Given the description of an element on the screen output the (x, y) to click on. 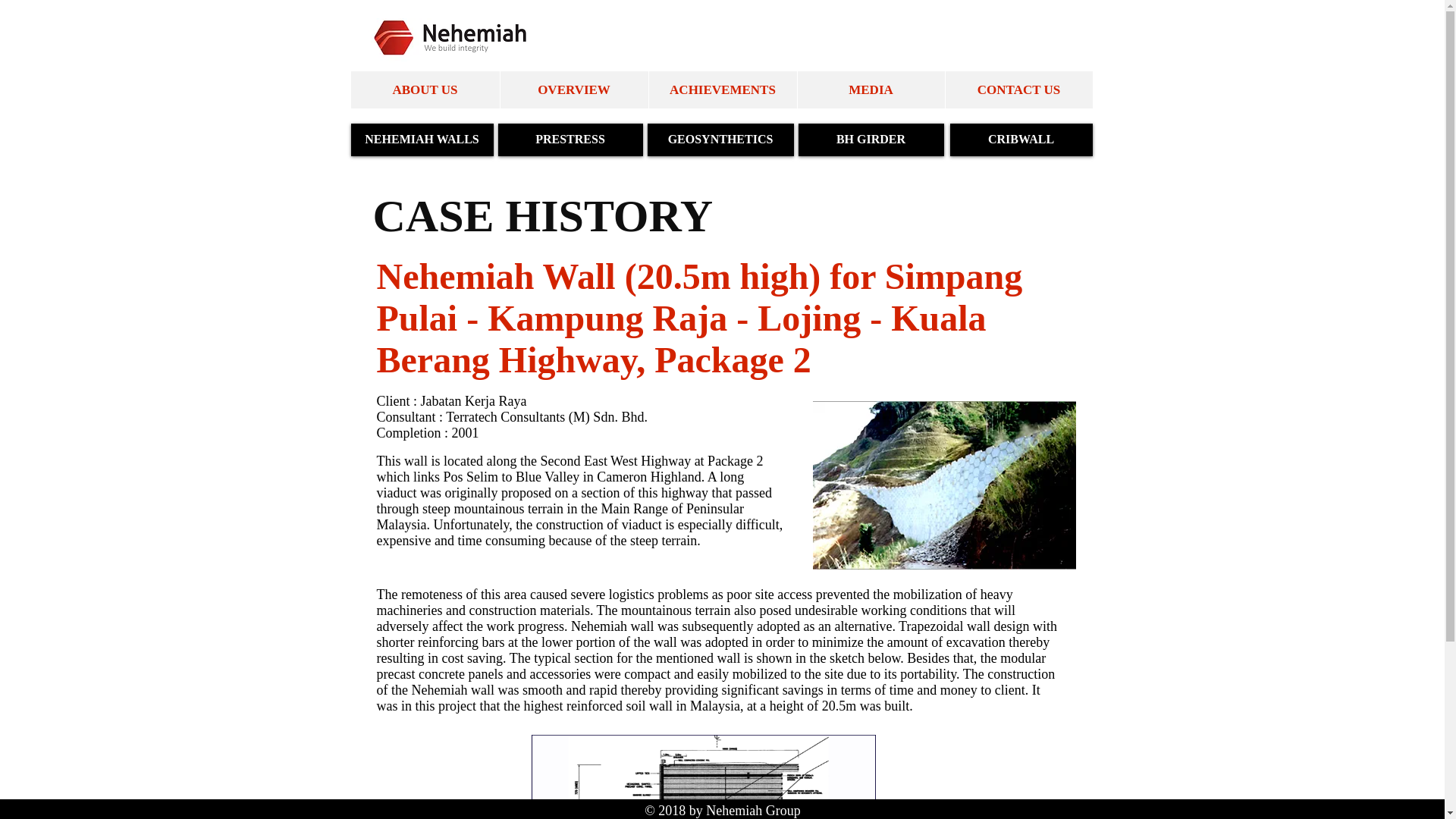
NEHEMIAH WALLS (421, 139)
S2.jpg (943, 485)
PRESTRESS (569, 139)
CRIBWALL (1020, 139)
S2A.gif (703, 776)
GEOSYNTHETICS (720, 139)
BH GIRDER (870, 139)
